Given the description of an element on the screen output the (x, y) to click on. 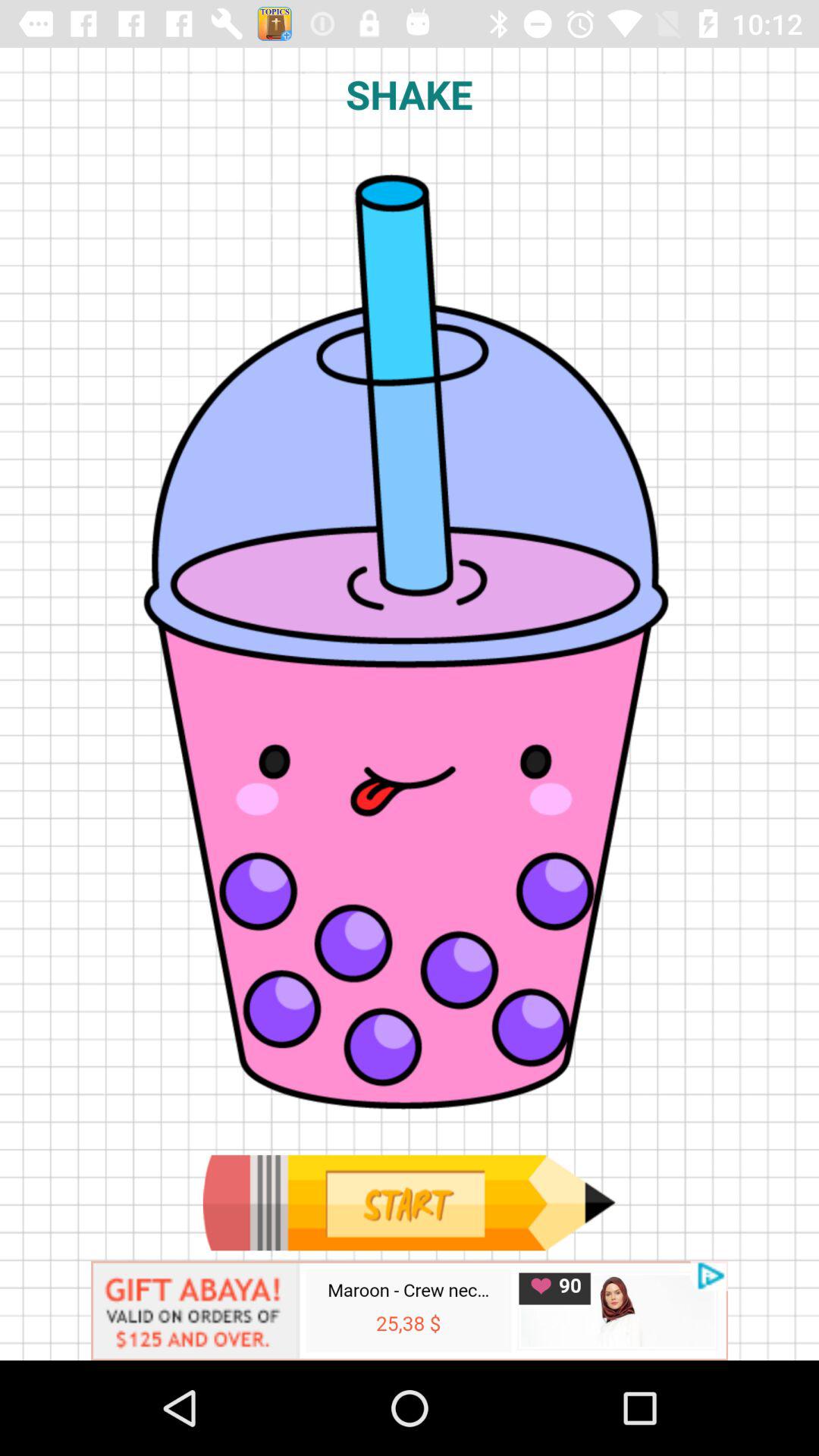
view advertisement in new app (409, 1310)
